Given the description of an element on the screen output the (x, y) to click on. 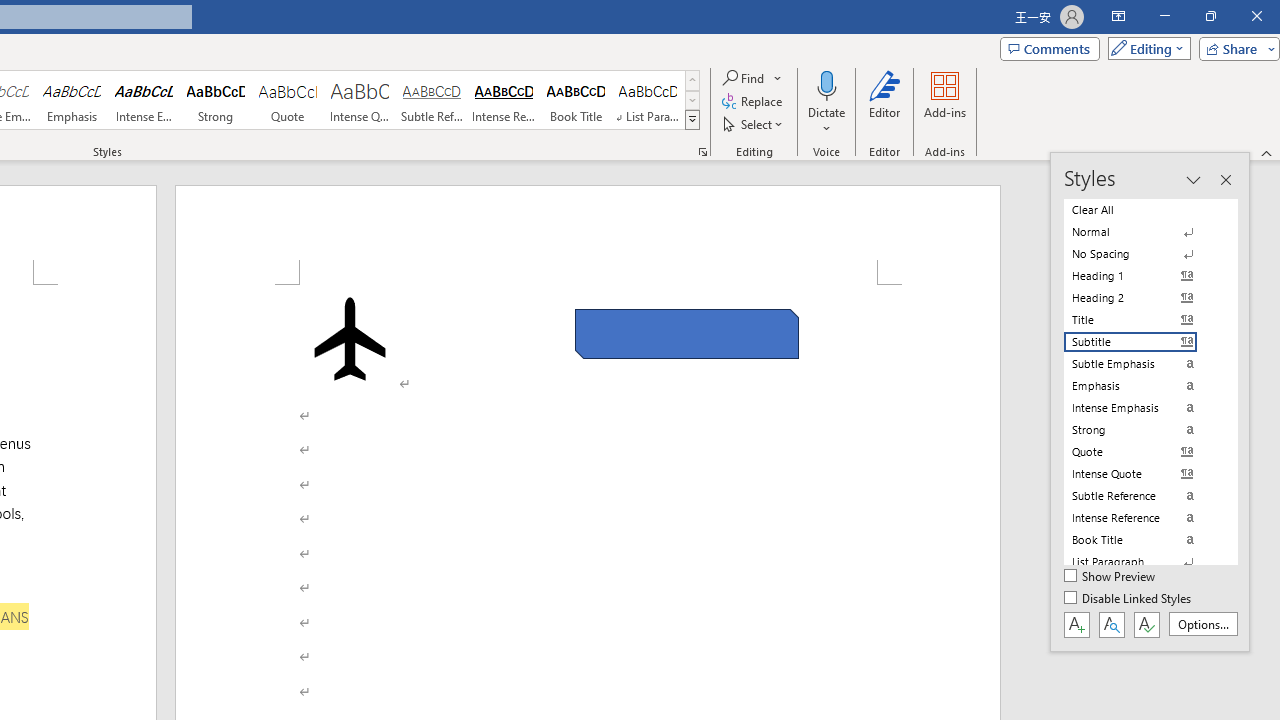
Replace... (753, 101)
Class: NetUIButton (1146, 624)
Editing (1144, 47)
Styles... (702, 151)
Book Title (575, 100)
No Spacing (1142, 253)
Intense Quote (359, 100)
Subtle Emphasis (1142, 363)
Heading 1 (1142, 275)
Clear All (1142, 209)
List Paragraph (1142, 561)
Normal (1142, 232)
